Given the description of an element on the screen output the (x, y) to click on. 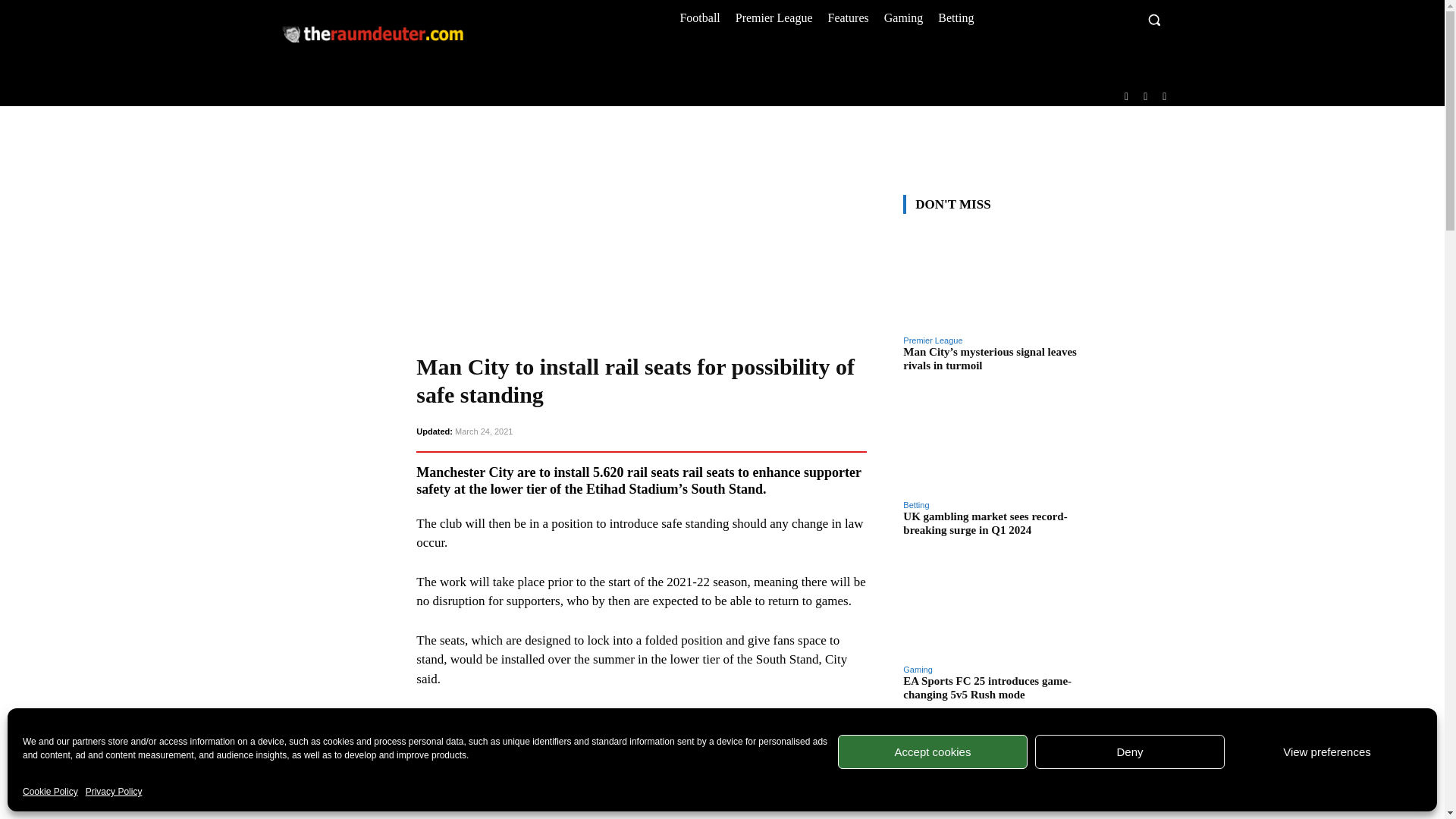
Deny (1129, 751)
View preferences (1326, 751)
Gaming (903, 17)
Football (698, 17)
Cookie Policy (50, 791)
Premier League (773, 17)
Accept cookies (932, 751)
Features (848, 17)
Privacy Policy (113, 791)
